Given the description of an element on the screen output the (x, y) to click on. 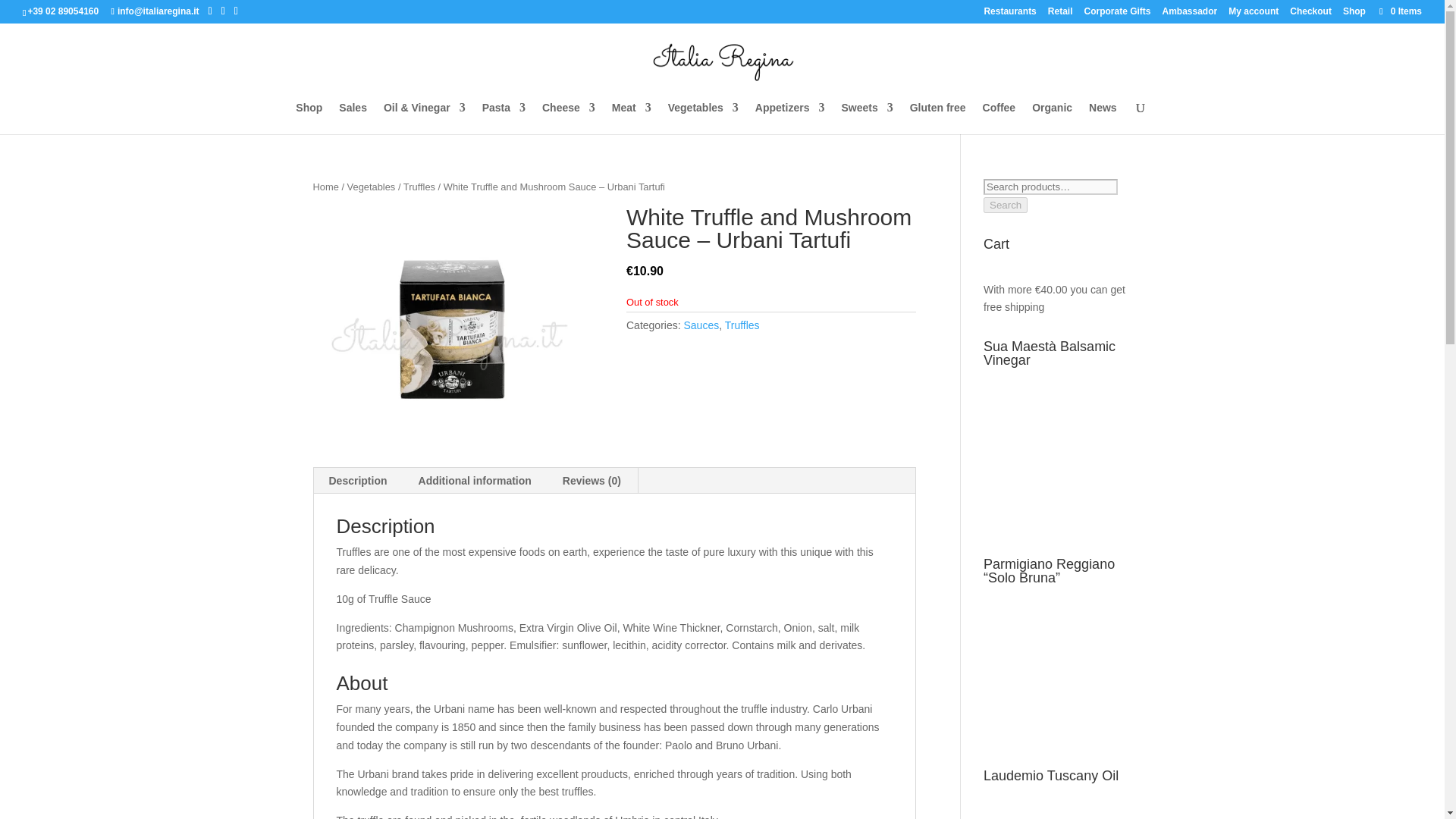
Retail (1060, 14)
Meat (630, 118)
Restaurants (1009, 14)
Ambassador (1189, 14)
white truffles (457, 325)
Corporate Gifts (1116, 14)
Shop (1353, 14)
Pasta (503, 118)
0 Items (1399, 10)
Cheese (568, 118)
